Given the description of an element on the screen output the (x, y) to click on. 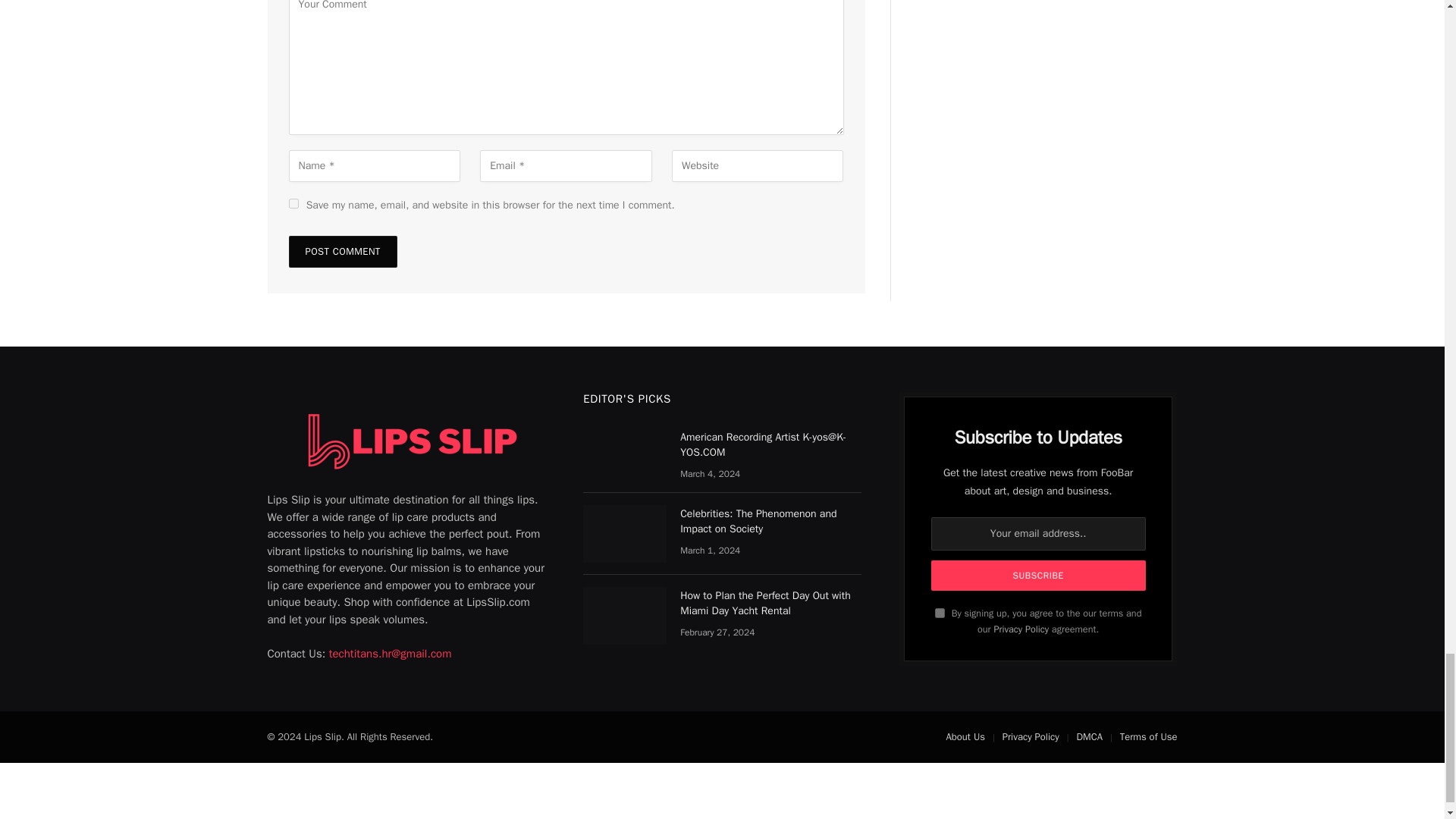
Post Comment (342, 251)
yes (293, 203)
Post Comment (342, 251)
on (939, 613)
Subscribe (1038, 575)
